Given the description of an element on the screen output the (x, y) to click on. 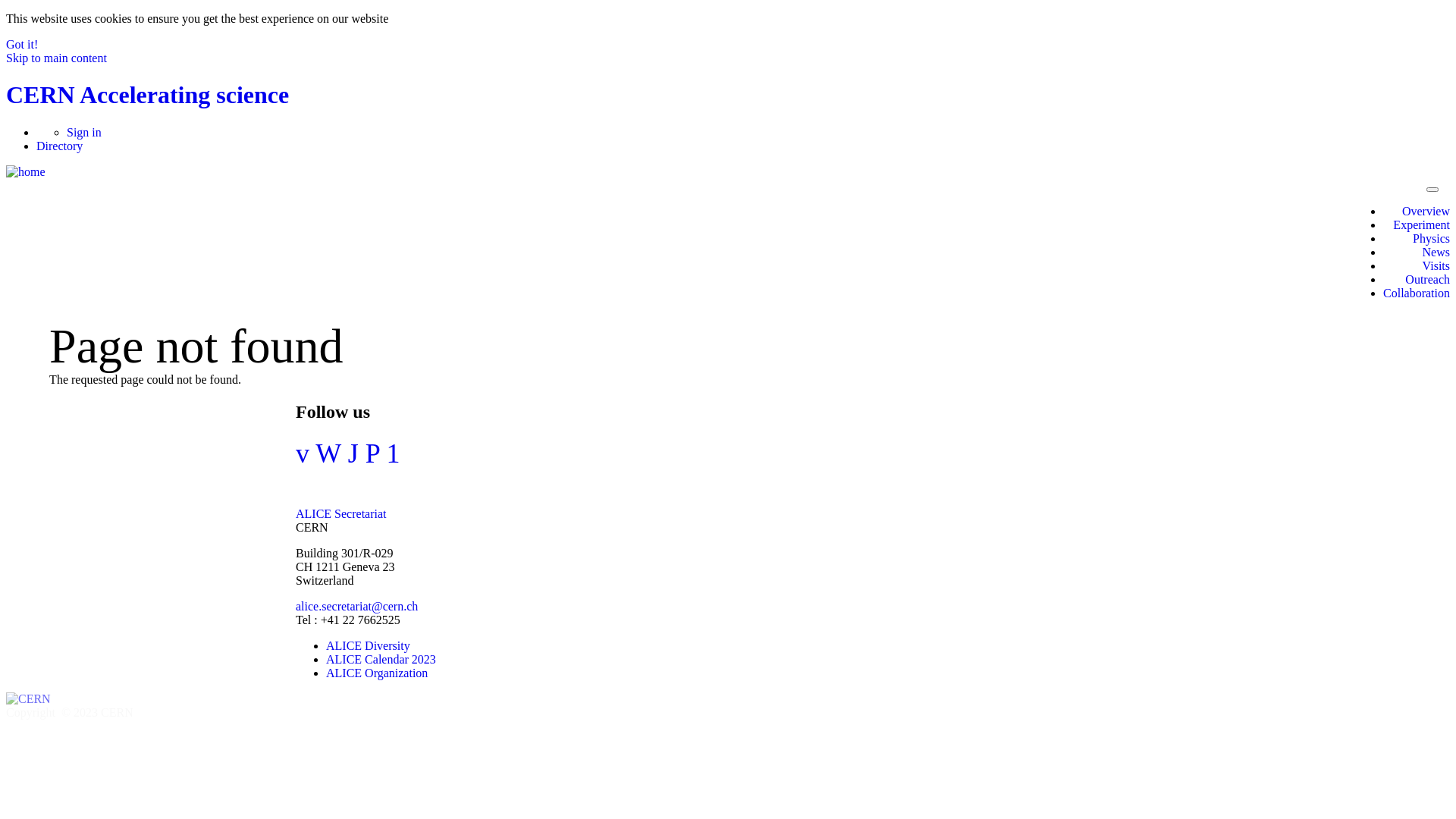
P Element type: text (372, 453)
Home Element type: hover (25, 171)
Overview Element type: text (1425, 210)
1 Element type: text (392, 453)
W Element type: text (327, 453)
J Element type: text (353, 453)
ALICE Diversity Element type: text (368, 645)
Physics Element type: text (1430, 238)
Skip to main content Element type: text (56, 57)
Outreach Element type: text (1427, 279)
v Element type: text (302, 453)
CERN Accelerating science Element type: text (147, 94)
ALICE Secretariat Element type: text (340, 513)
News Element type: text (1435, 251)
Copyright Element type: text (32, 712)
Toggle navigation Element type: text (1432, 189)
Directory Element type: text (59, 145)
ALICE Organization Element type: text (376, 672)
Experiment Element type: text (1421, 224)
CERN Element type: hover (28, 698)
ALICE Calendar 2023 Element type: text (381, 658)
Sign in Element type: text (83, 131)
Visits Element type: text (1435, 265)
alice.secretariat@cern.ch Element type: text (356, 605)
Got it! Element type: text (21, 43)
Collaboration Element type: text (1416, 292)
